Given the description of an element on the screen output the (x, y) to click on. 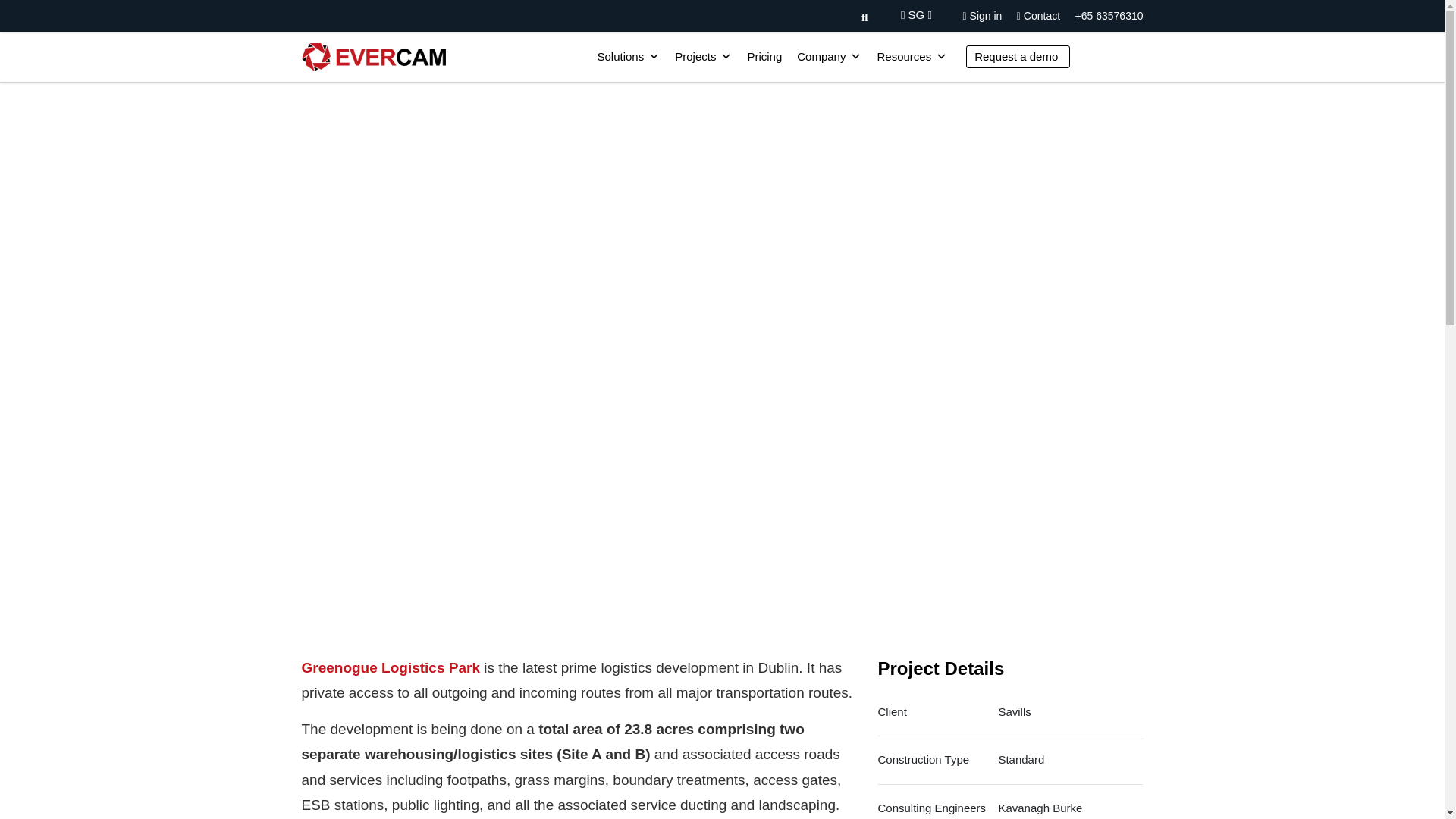
Contact (1037, 15)
SG (916, 14)
Solutions (627, 56)
Sign in (982, 15)
Projects (702, 56)
